Given the description of an element on the screen output the (x, y) to click on. 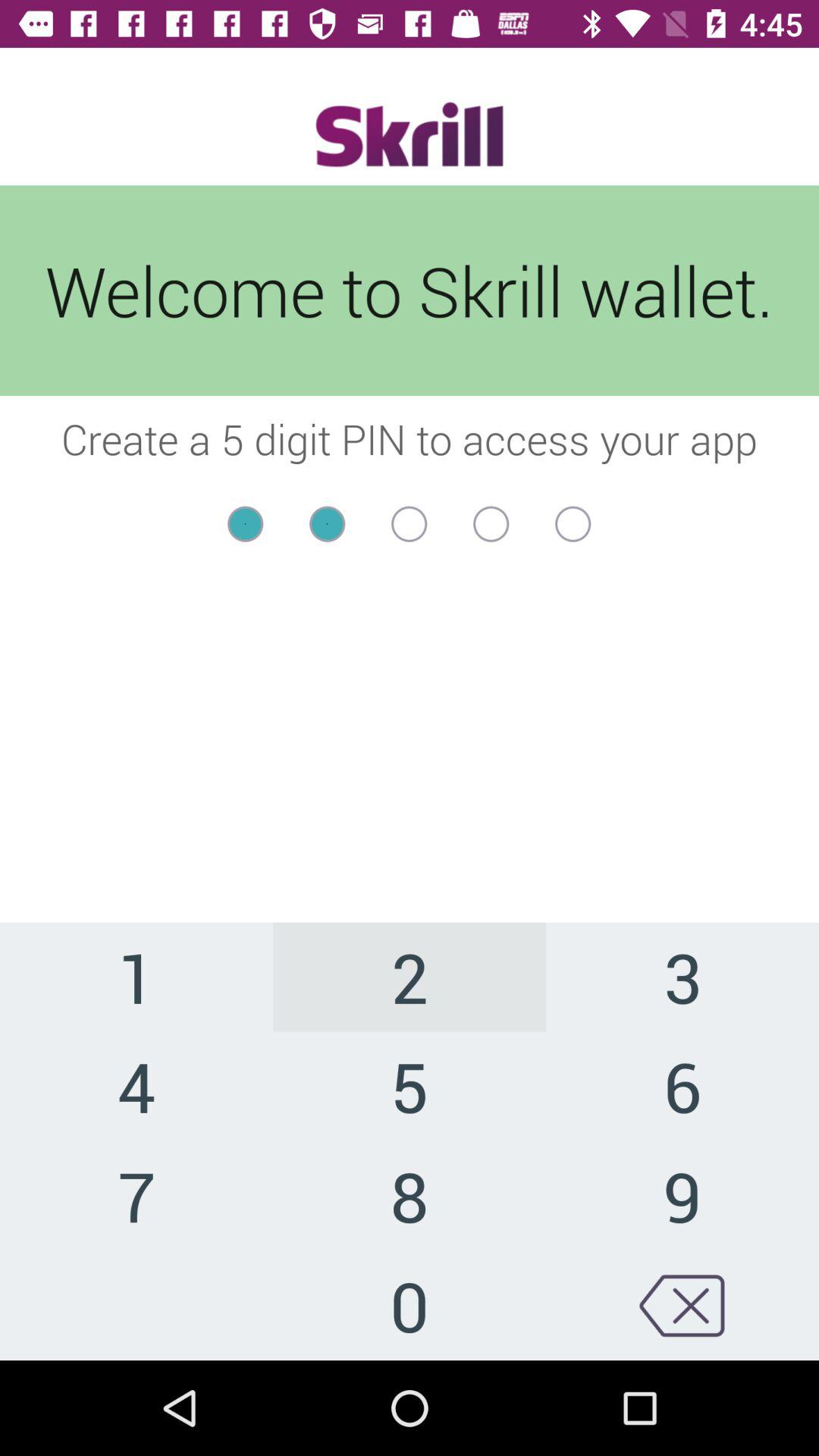
enter next pin number (409, 524)
